Given the description of an element on the screen output the (x, y) to click on. 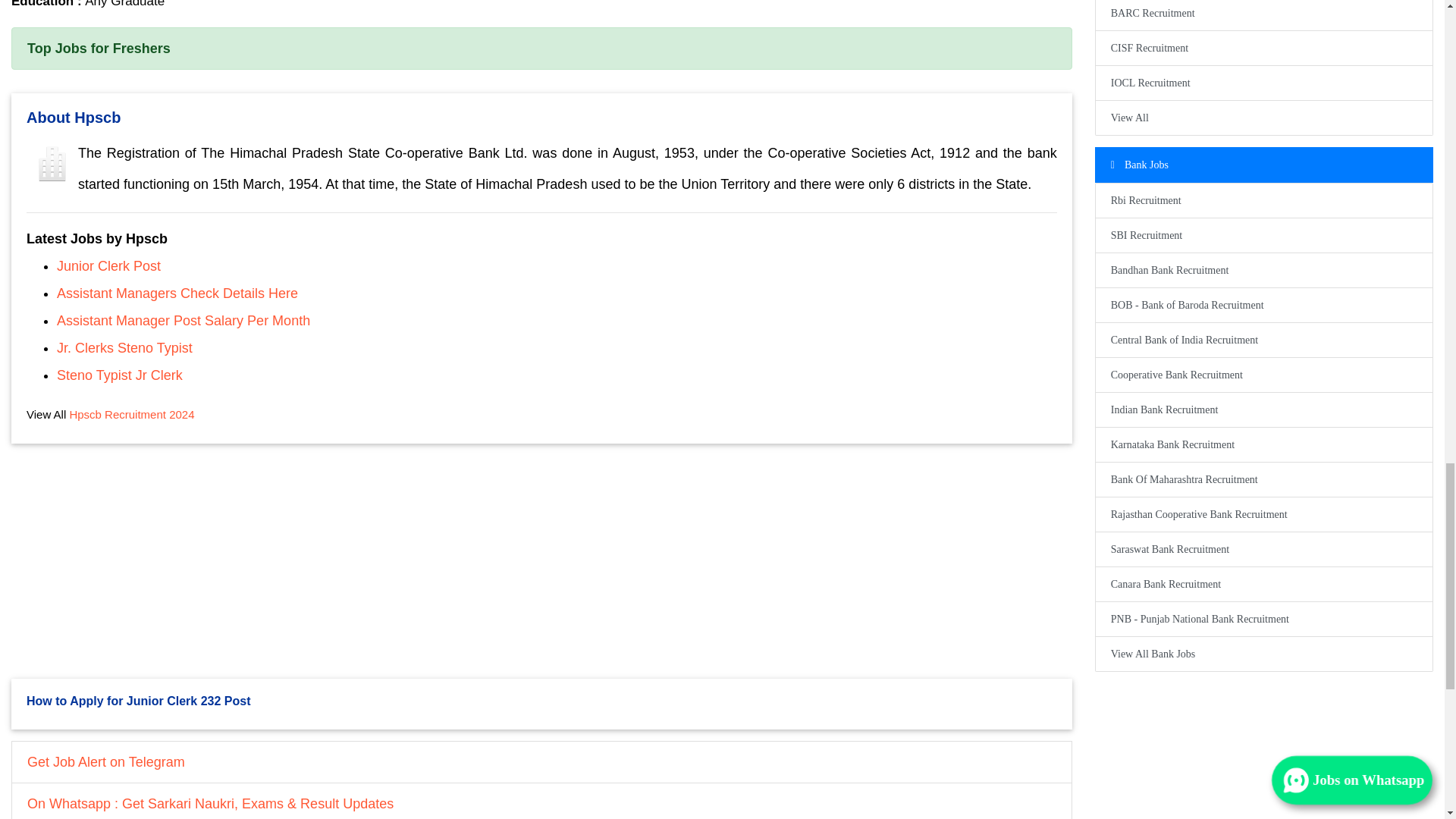
Hpscb Recruitment (130, 413)
Junior Clerk Post recruitment (108, 265)
Jr. Clerks Steno Typist recruitment (124, 347)
Steno Typist Jr Clerk recruitment (119, 375)
 Assistant Managers Check Details Here recruitment (177, 293)
Jr. Clerks Steno Typist (124, 347)
Junior Clerk Post (108, 265)
Steno Typist Jr Clerk (119, 375)
Get Job Alert on Telegram (541, 761)
Hpscb Recruitment 2024 (130, 413)
